Given the description of an element on the screen output the (x, y) to click on. 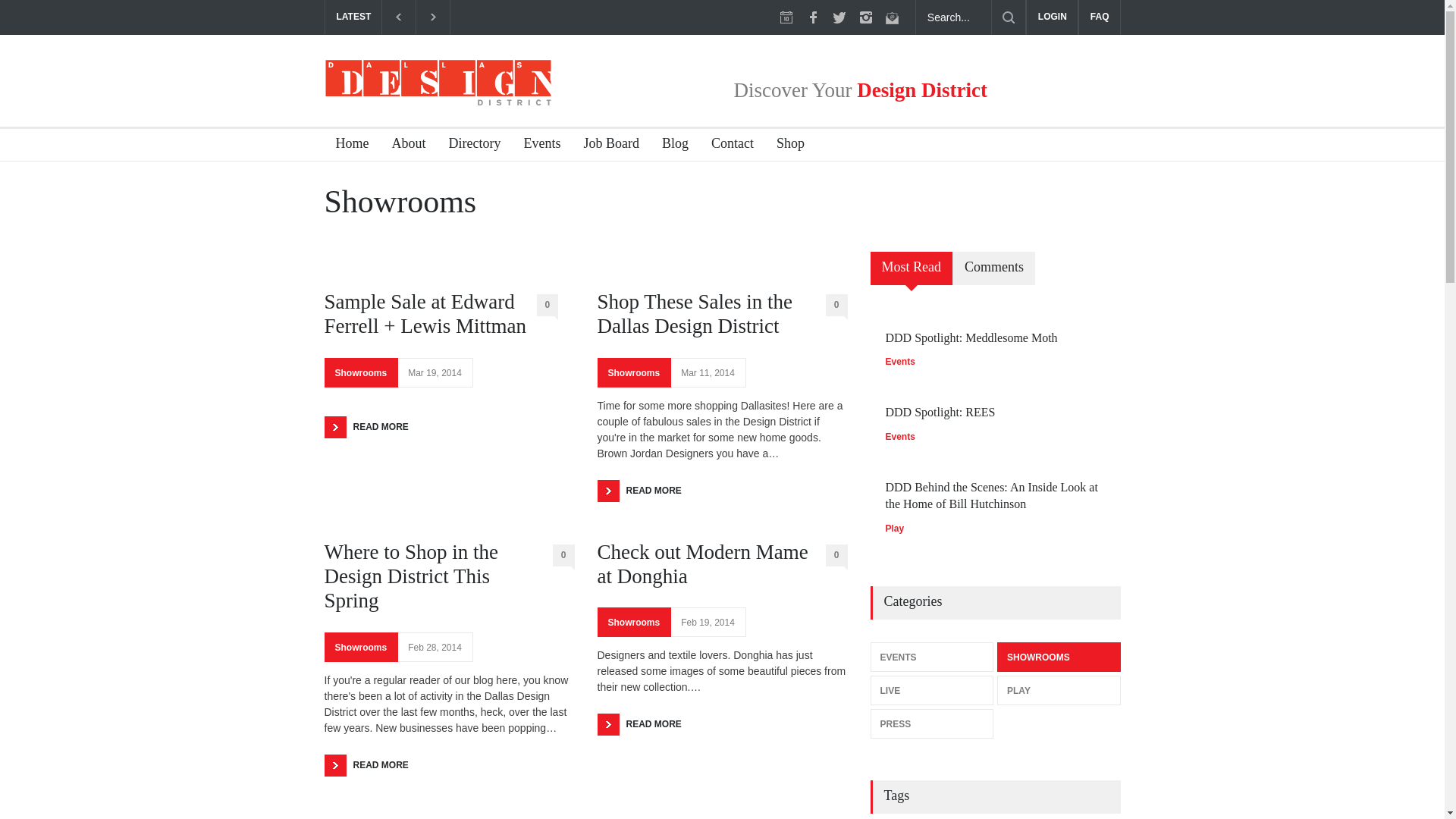
Dallas Design District Logo (437, 82)
Search... (953, 17)
Blog (669, 144)
facebook (813, 16)
Home (346, 144)
Blog (669, 144)
Events (536, 144)
Contact (727, 144)
instagram (865, 16)
